Given the description of an element on the screen output the (x, y) to click on. 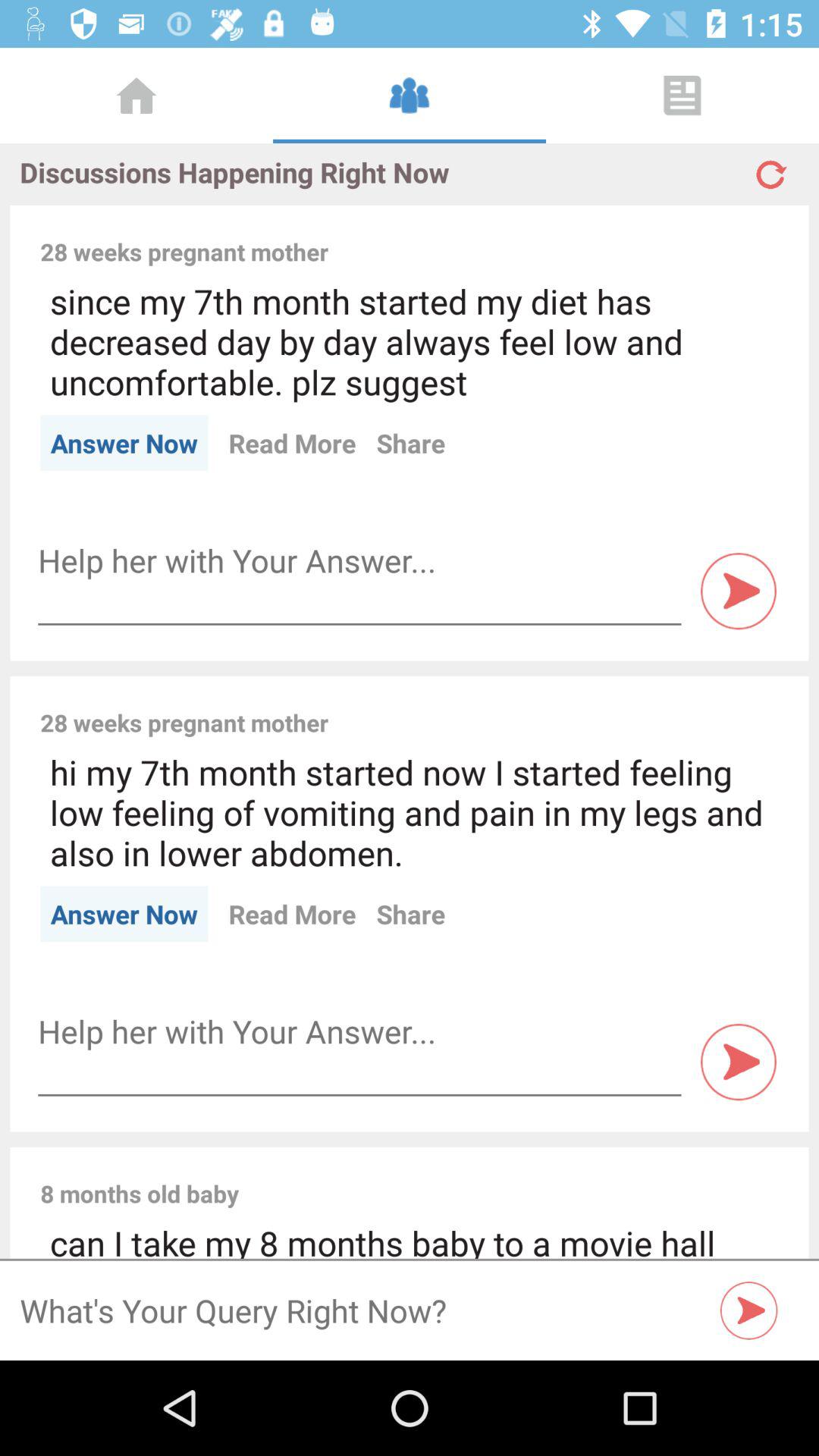
flip to can i take item (409, 1238)
